Given the description of an element on the screen output the (x, y) to click on. 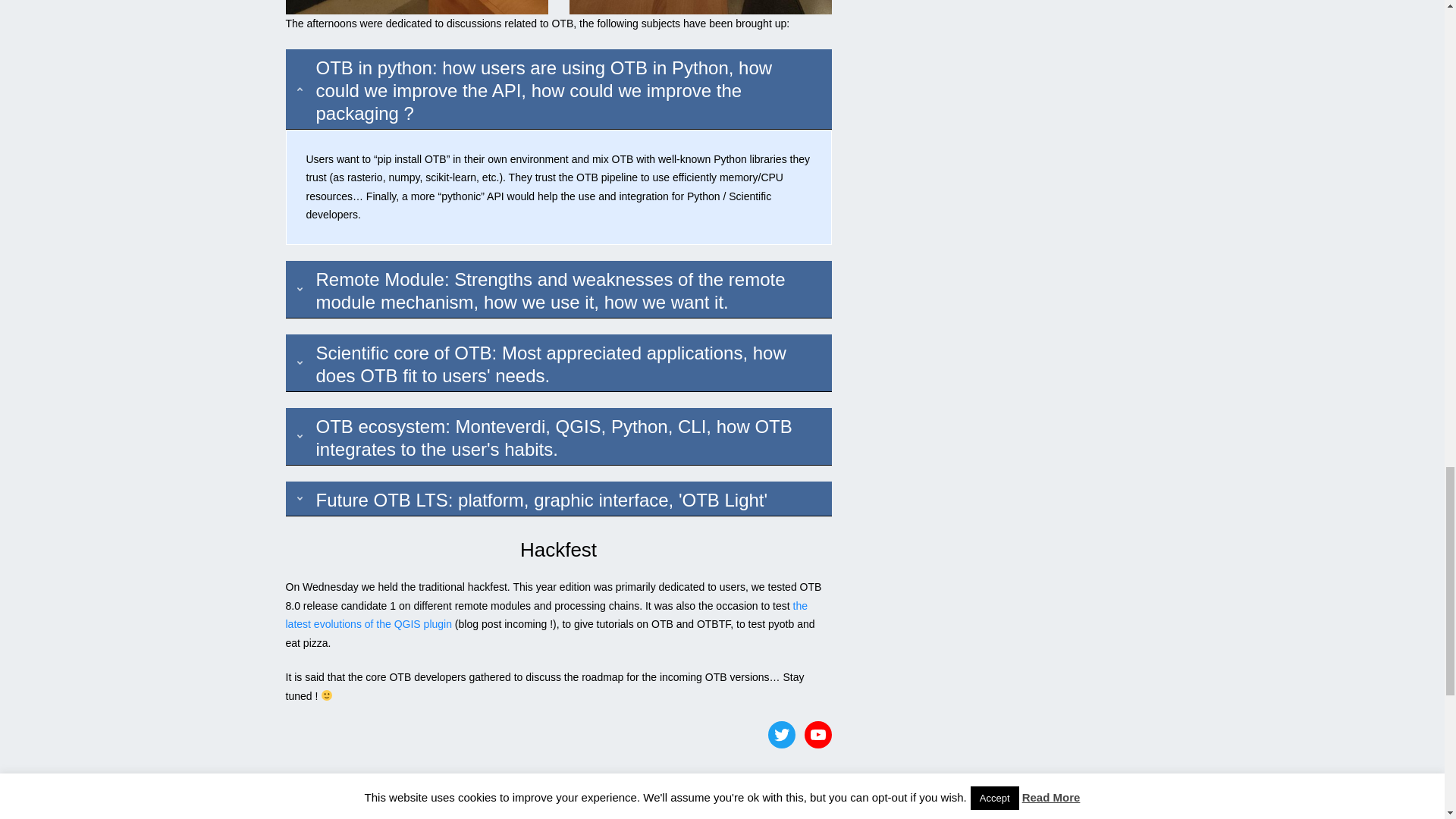
Uncategorized (377, 809)
YouTube (817, 734)
Twitter (780, 734)
the latest evolutions of the QGIS plugin (546, 614)
